Given the description of an element on the screen output the (x, y) to click on. 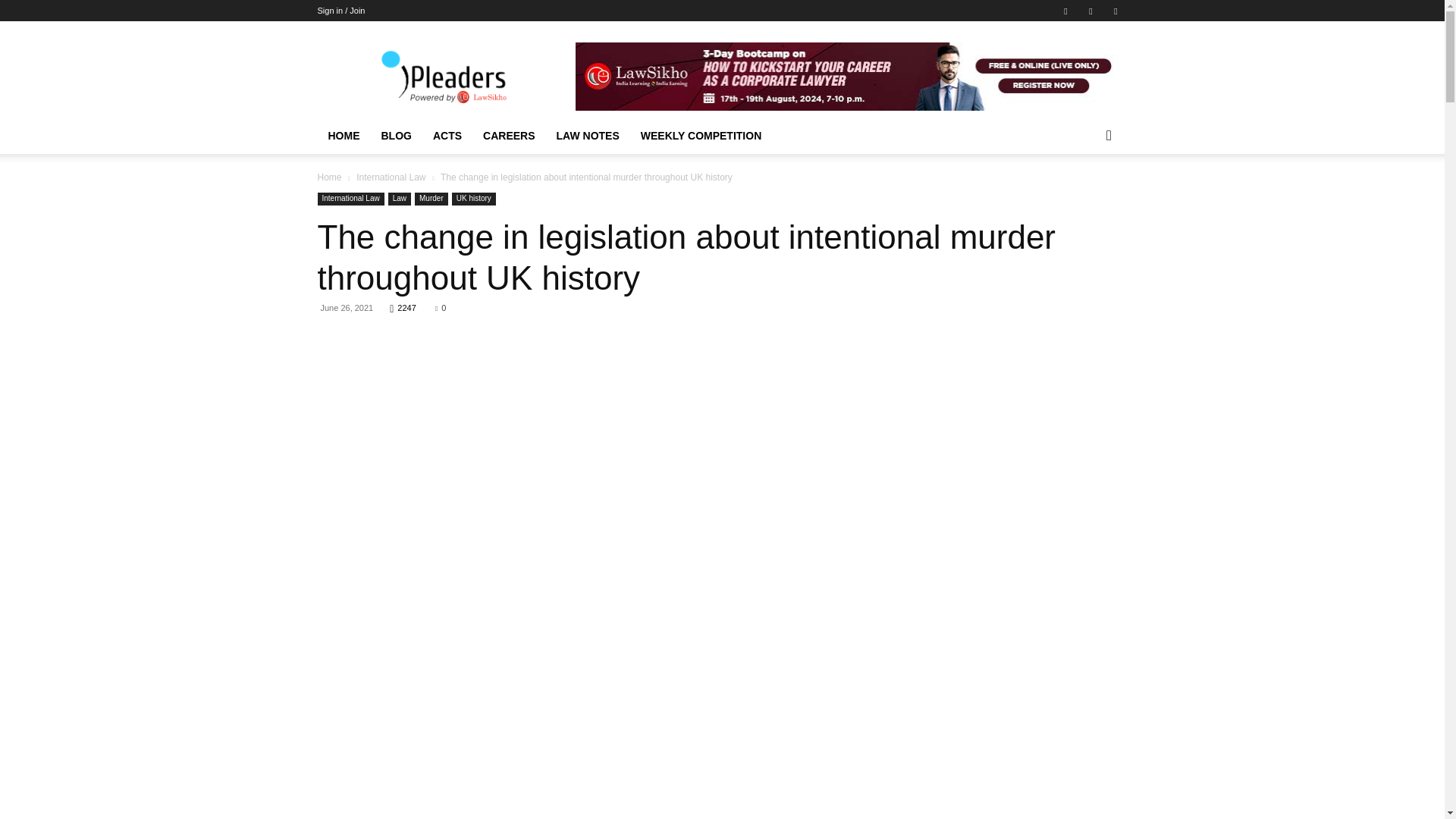
View all posts in International Law (390, 176)
Facebook (1065, 10)
Twitter (1114, 10)
RSS (1090, 10)
